Given the description of an element on the screen output the (x, y) to click on. 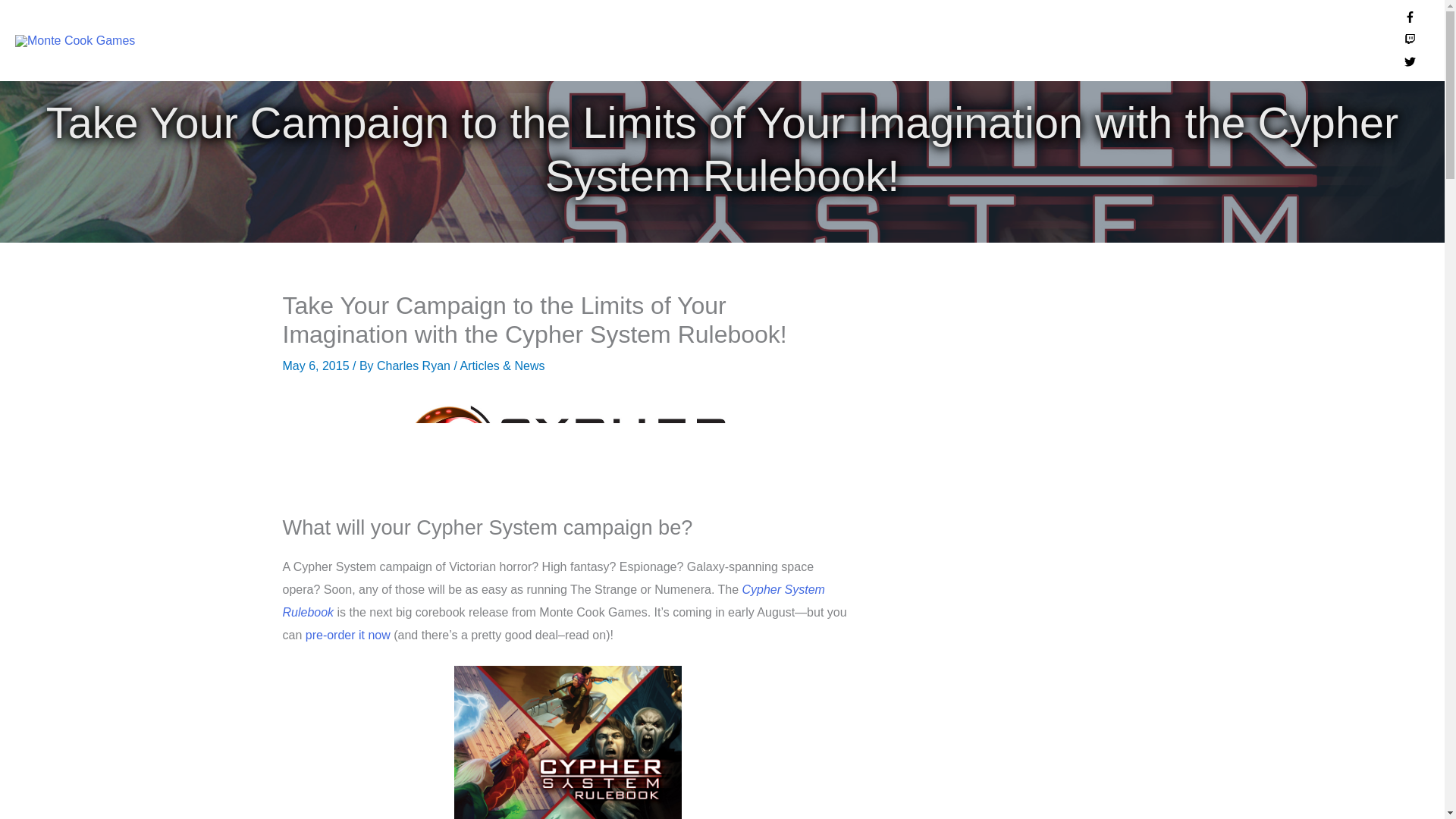
CYPHER TOOLS (1032, 40)
FAN SUPPORT (1151, 40)
CONTACT US (1334, 40)
View all posts by Charles Ryan (414, 365)
NEW TO OUR GAMES? (753, 40)
